Given the description of an element on the screen output the (x, y) to click on. 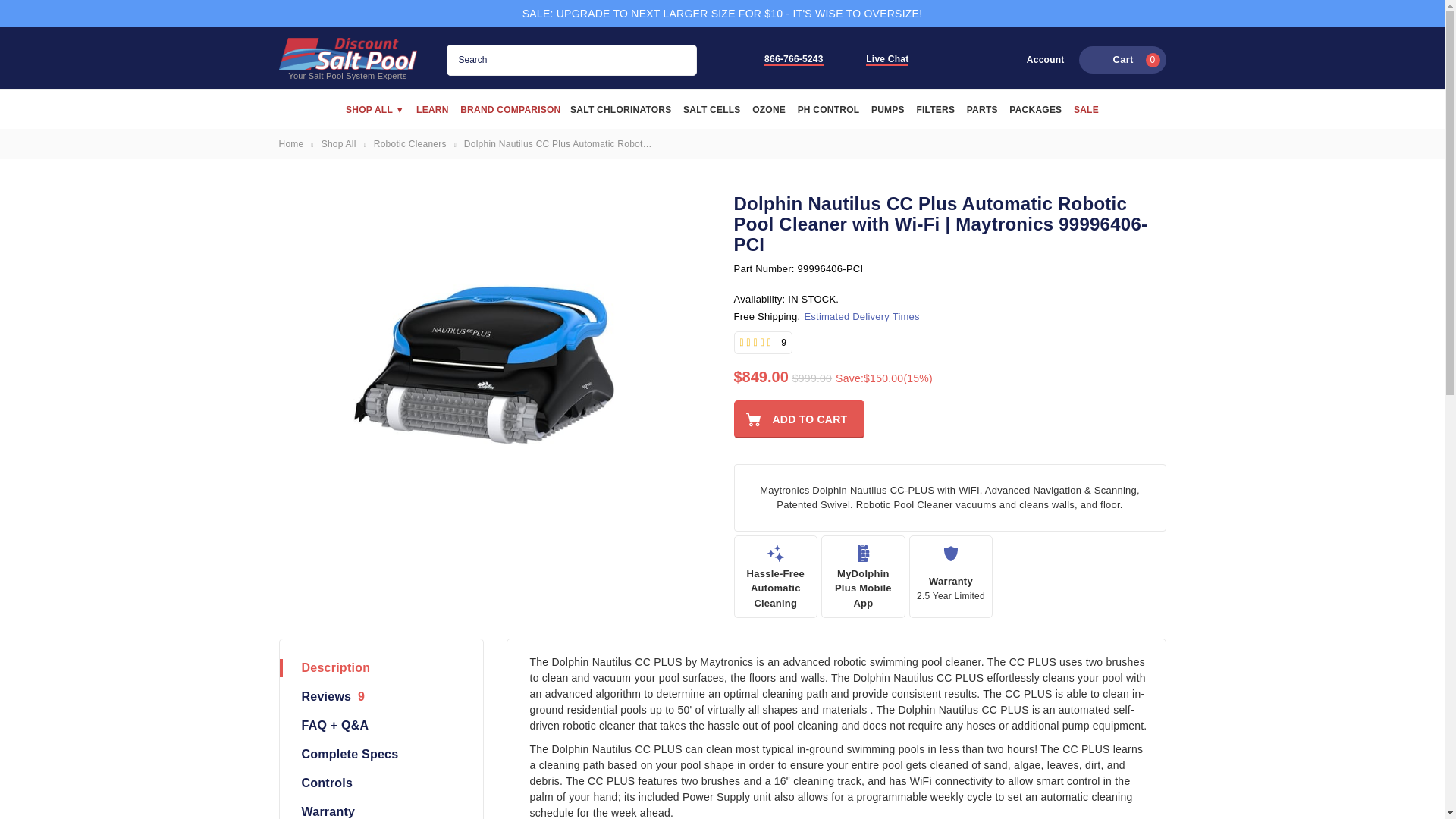
BRAND COMPARISON (510, 110)
9 (763, 342)
SALT CELLS (1122, 59)
866-766-5243 (711, 110)
LEARN (783, 59)
Discount Salt Pool (432, 110)
Your Salt Pool System Experts (347, 53)
Live Chat (347, 59)
SHOP ALL (877, 59)
